Given the description of an element on the screen output the (x, y) to click on. 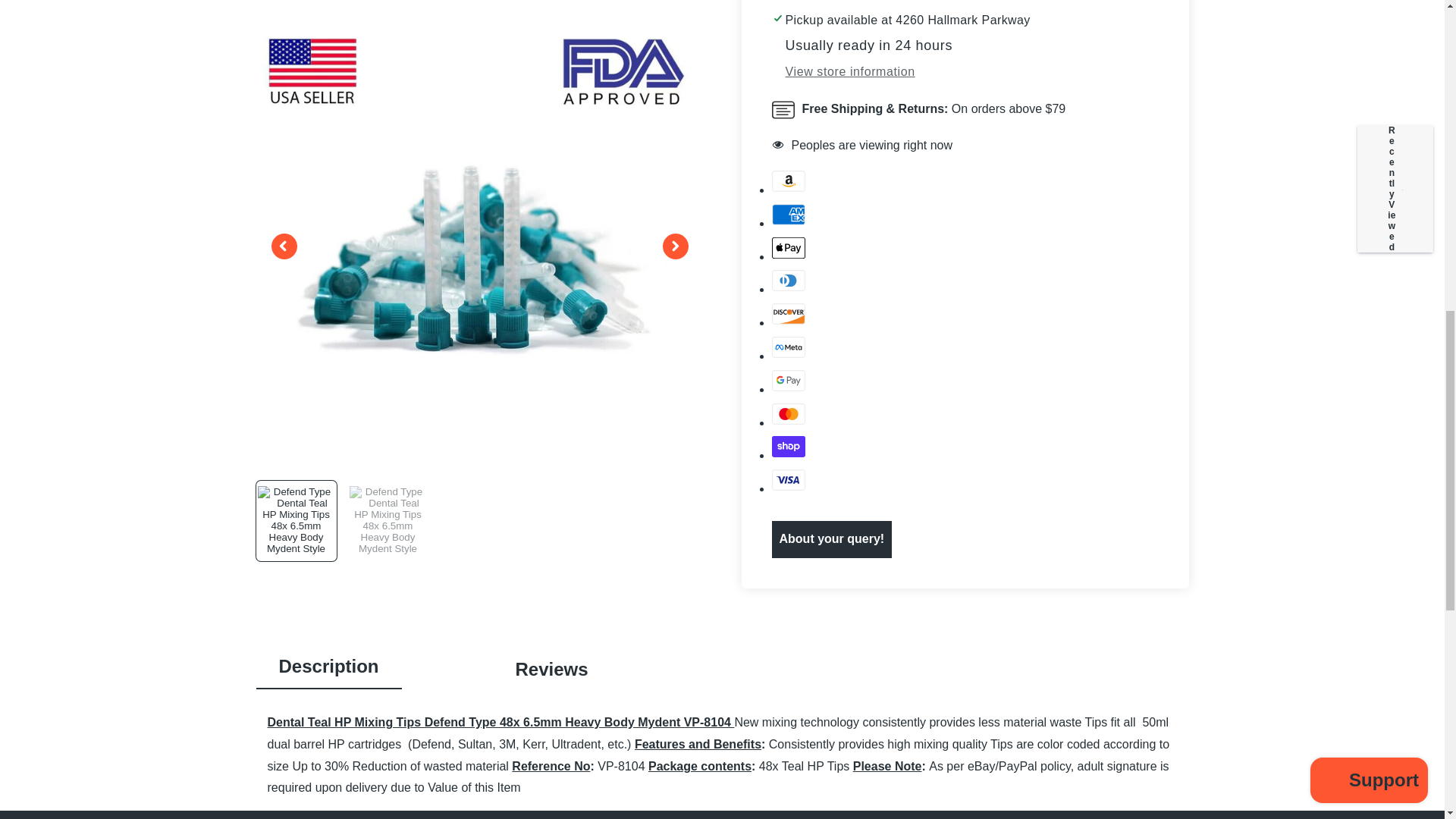
Google Pay (788, 380)
Diners Club (788, 280)
Discover (788, 313)
Amazon (788, 181)
Shop Pay (788, 446)
Mastercard (788, 413)
Meta Pay (788, 347)
Visa (788, 479)
American Express (788, 214)
Apple Pay (788, 248)
